Given the description of an element on the screen output the (x, y) to click on. 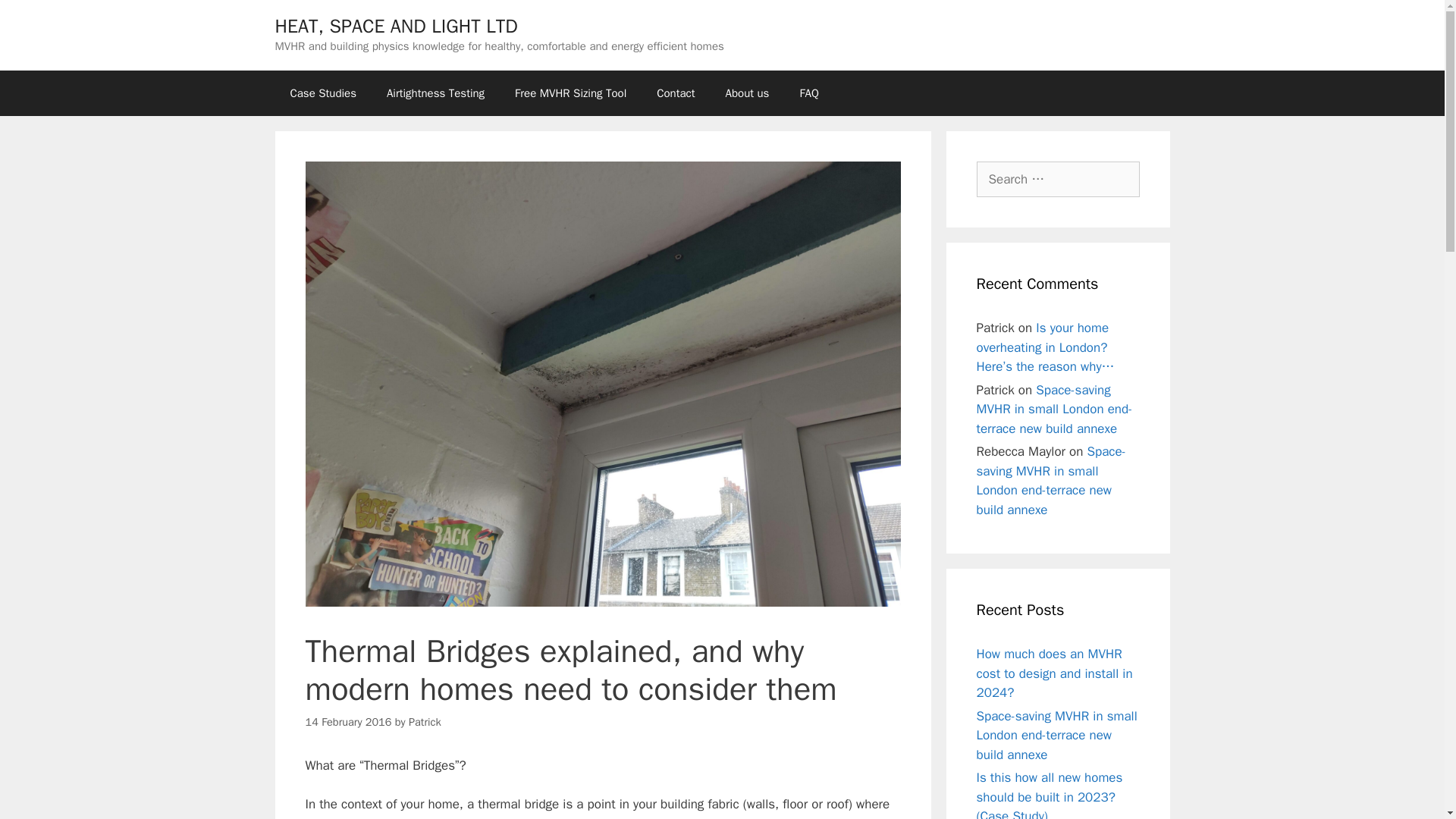
Airtightness Testing (435, 92)
How much does an MVHR cost to design and install in 2024? (1054, 673)
Patrick (425, 721)
View all posts by Patrick (425, 721)
Case Studies (323, 92)
FAQ (808, 92)
Search (35, 18)
HEAT, SPACE AND LIGHT LTD (395, 25)
